Given the description of an element on the screen output the (x, y) to click on. 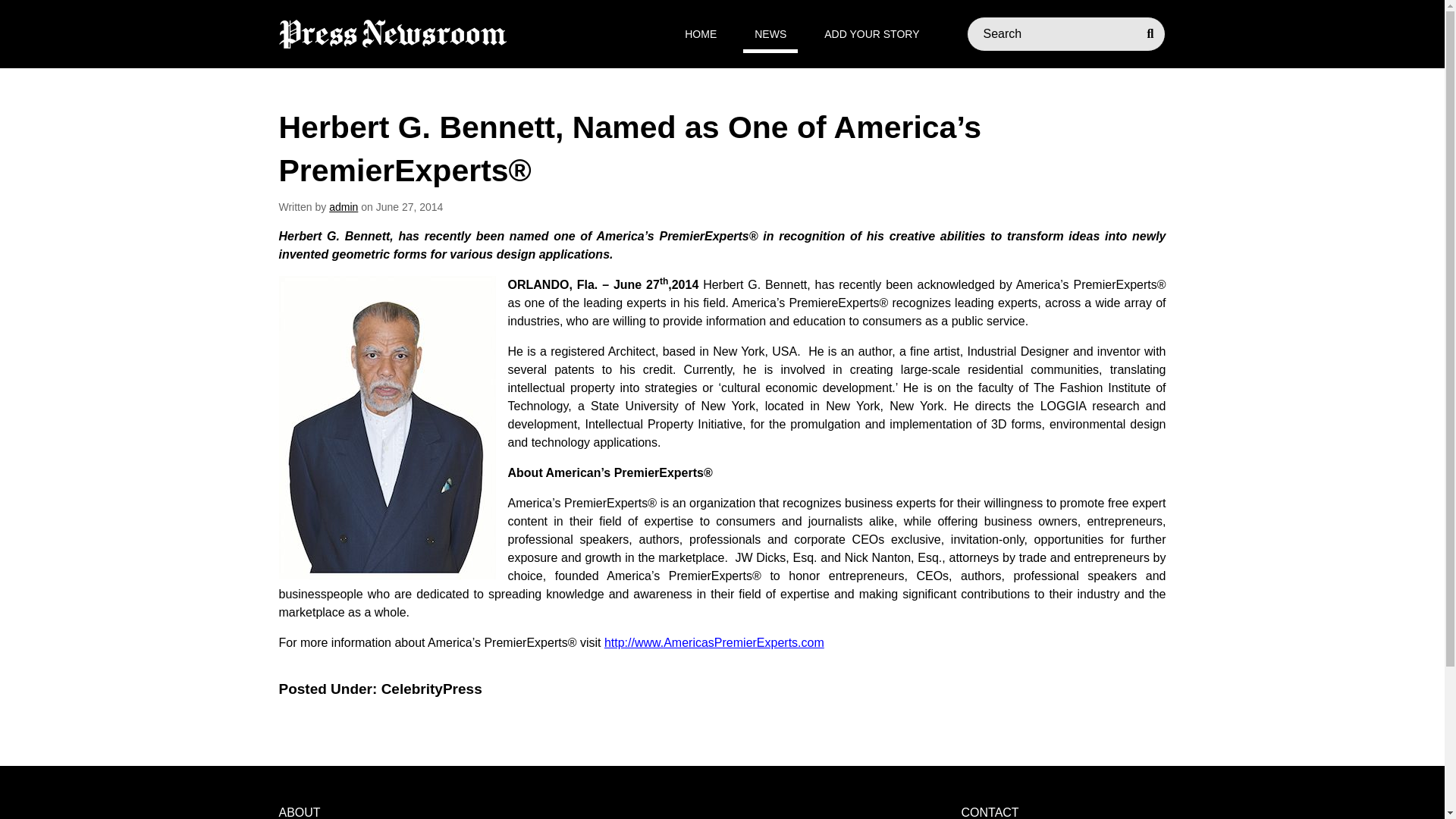
admin (343, 206)
HOME (700, 34)
PressNewsRoom (392, 33)
CelebrityPress (431, 688)
ADD YOUR STORY (871, 34)
NEWS (769, 34)
Posts by admin (343, 206)
